Given the description of an element on the screen output the (x, y) to click on. 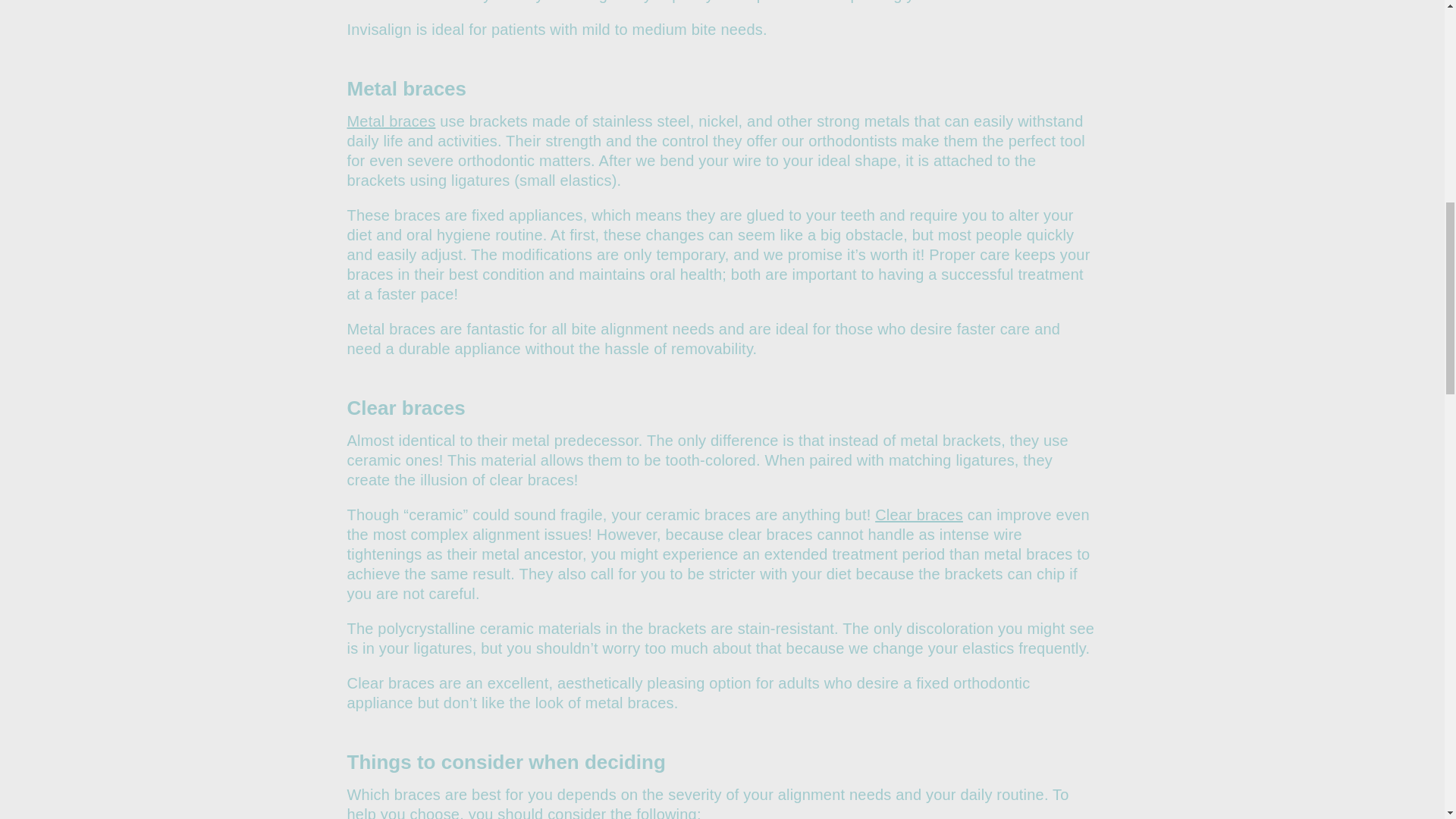
Metal braces (391, 121)
Clear braces (918, 514)
